Given the description of an element on the screen output the (x, y) to click on. 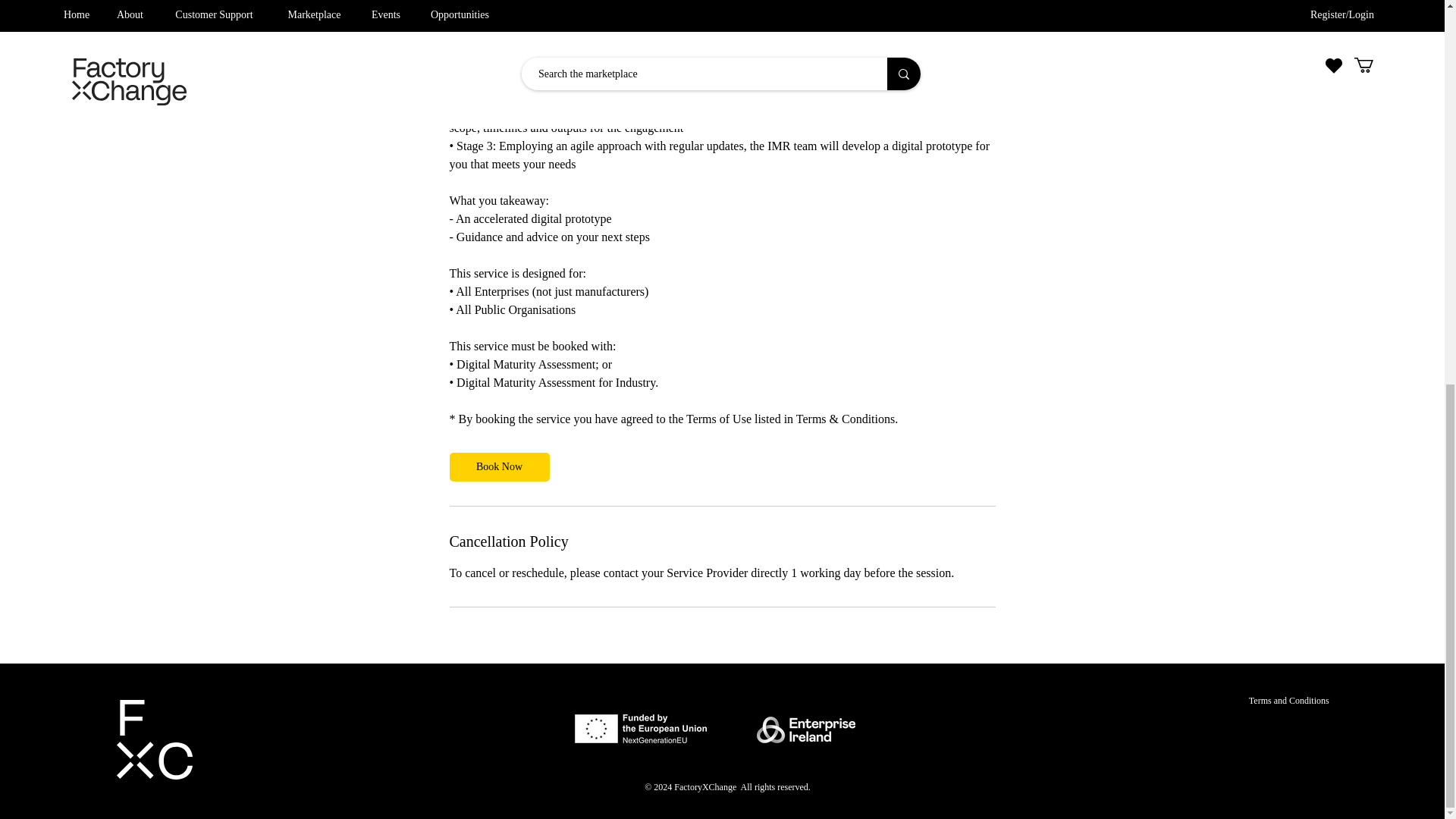
Book Now (498, 466)
Terms and Conditions (1289, 700)
